Given the description of an element on the screen output the (x, y) to click on. 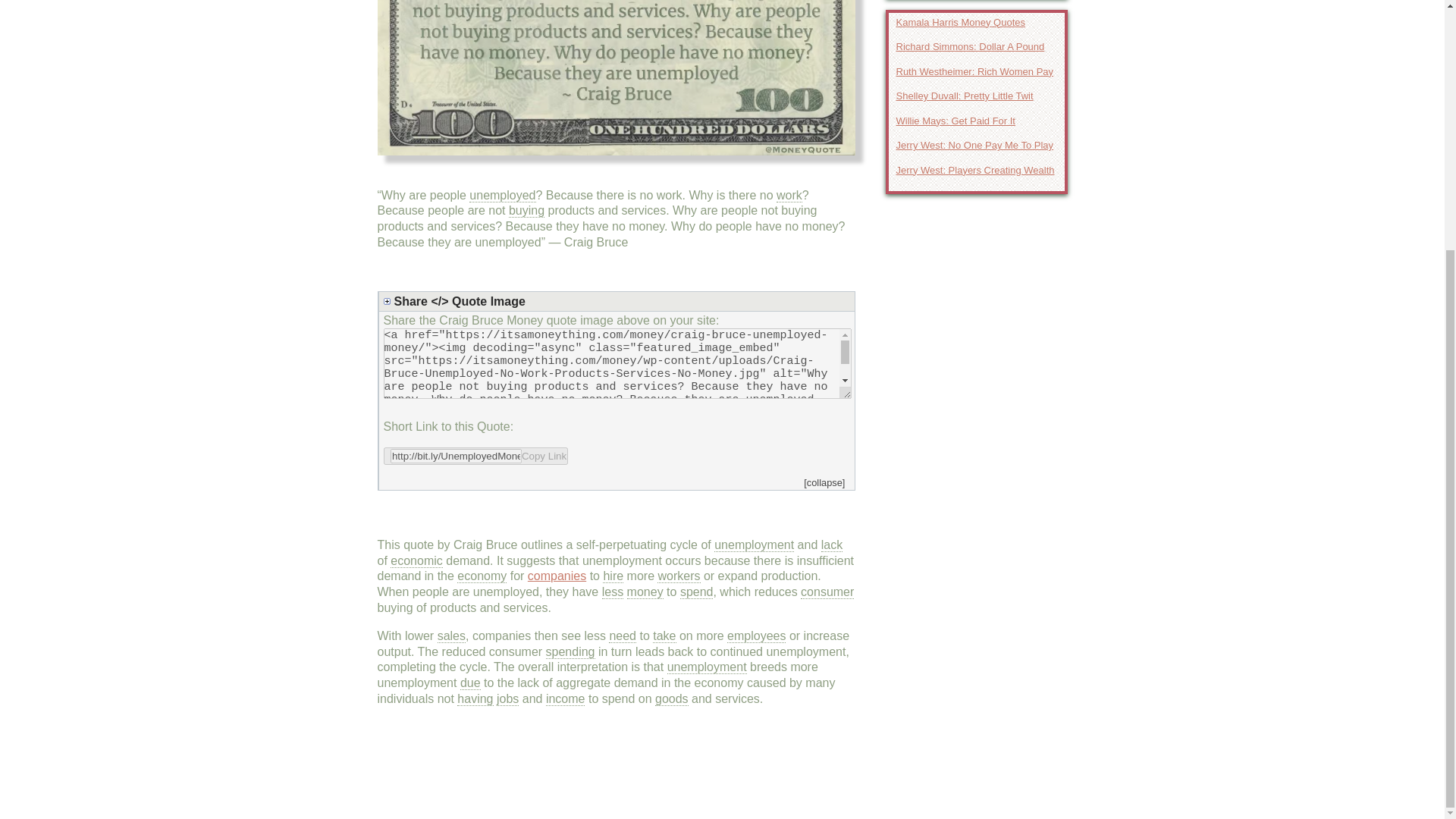
unemployment (753, 545)
need (622, 635)
unemployed (501, 195)
hire (612, 576)
  Copy Link (476, 456)
consumer (826, 591)
workers (679, 576)
less (612, 591)
sales (451, 635)
economy (481, 576)
work (789, 195)
companies (556, 575)
spending (570, 652)
economic (416, 561)
employees (756, 635)
